Given the description of an element on the screen output the (x, y) to click on. 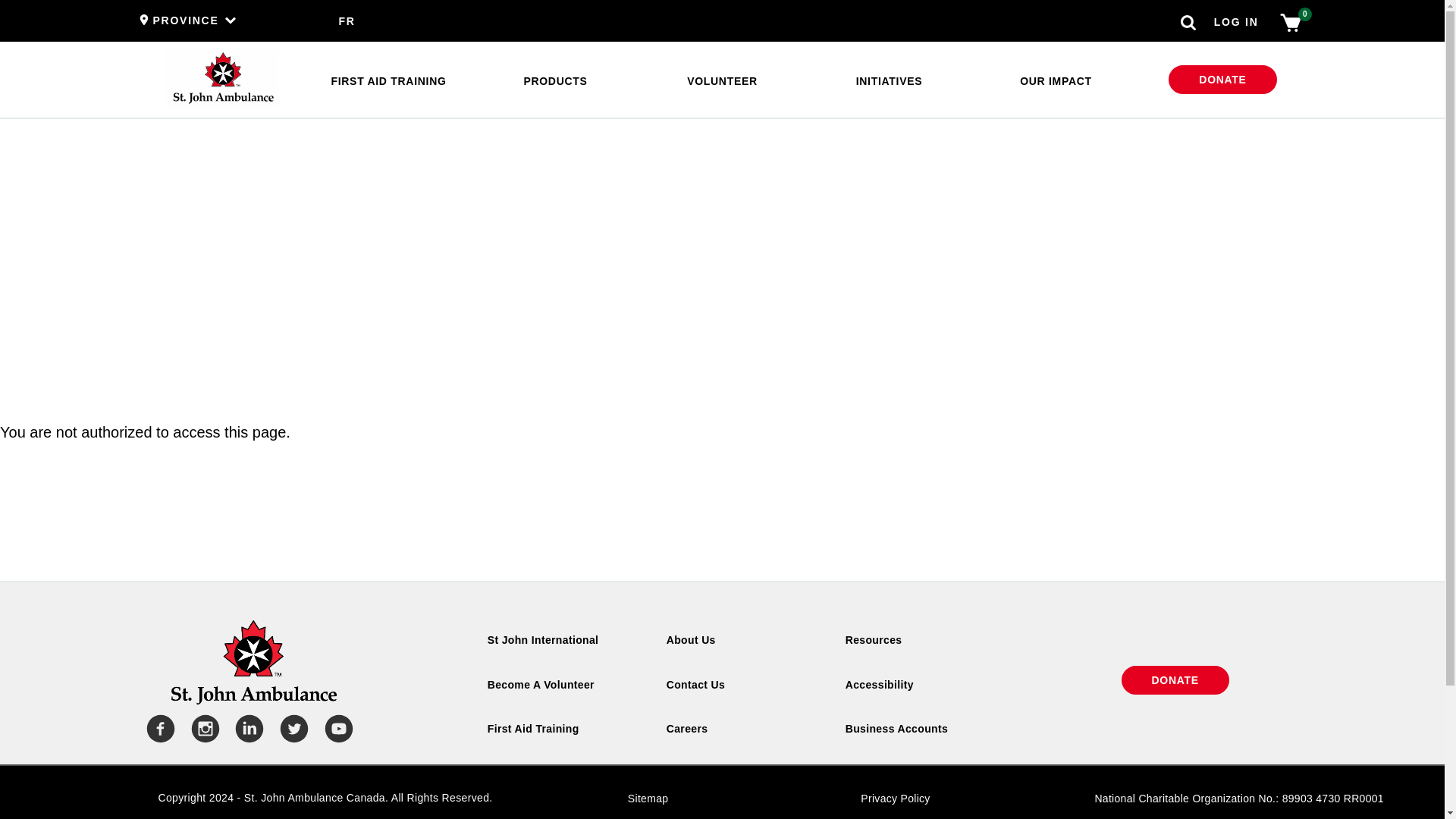
Youtube (336, 730)
PRODUCTS (554, 82)
Instagram (202, 730)
INITIATIVES (889, 82)
VOLUNTEER (722, 82)
FIRST AID TRAINING (387, 82)
0 (1290, 28)
St. John International (542, 639)
FR (346, 21)
Twitter (291, 730)
sja on instagram (202, 730)
Facebook (157, 730)
LinkedIn (246, 730)
LOG IN (1236, 21)
OUR IMPACT (1056, 82)
